Given the description of an element on the screen output the (x, y) to click on. 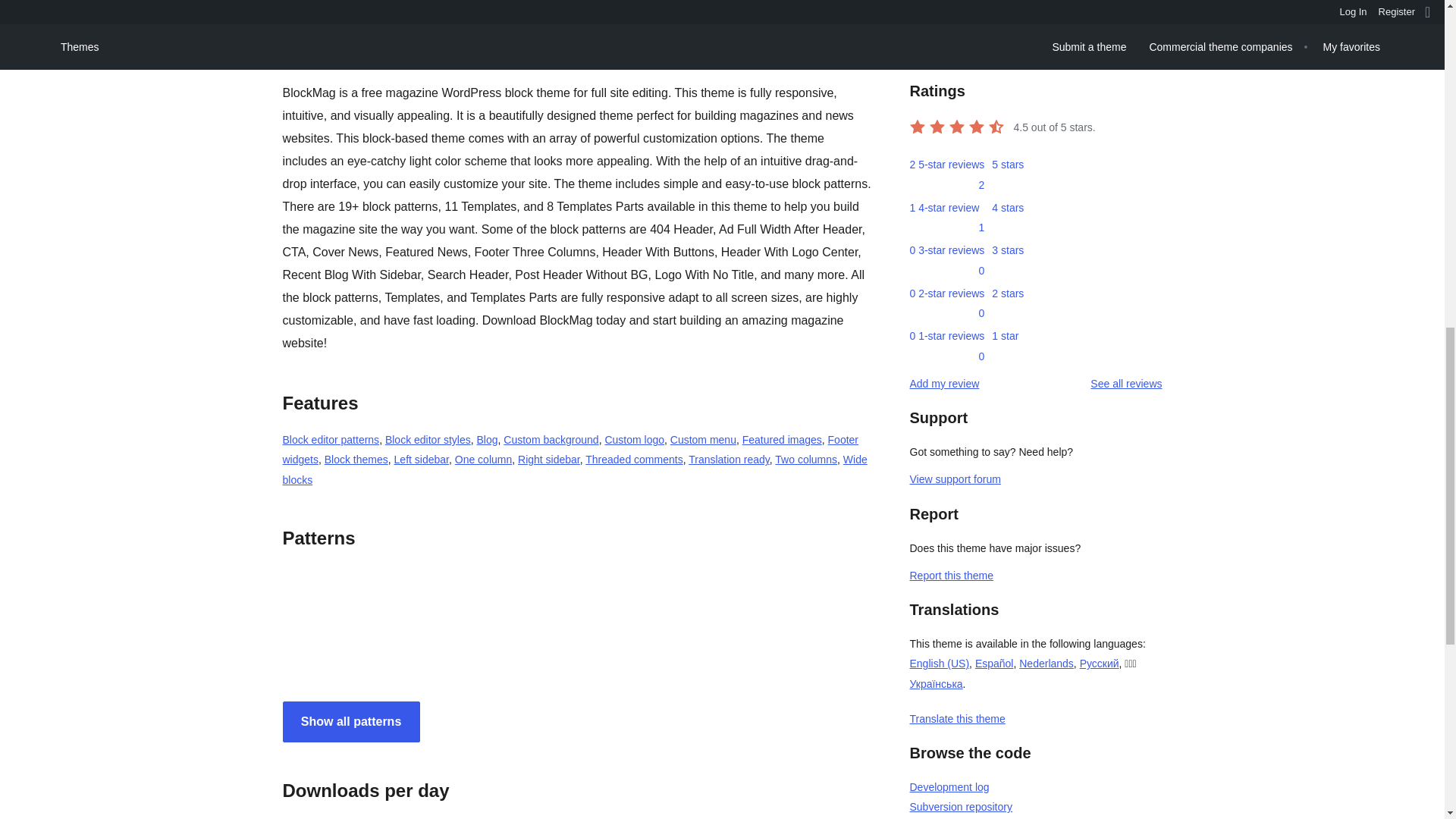
Block themes (356, 459)
Custom menu (702, 439)
Footer widgets (570, 450)
One column (483, 459)
Blog (487, 439)
Featured images (782, 439)
Block editor styles (427, 439)
Left sidebar (421, 459)
Custom logo (633, 439)
Custom background (550, 439)
Block editor patterns (330, 439)
